Given the description of an element on the screen output the (x, y) to click on. 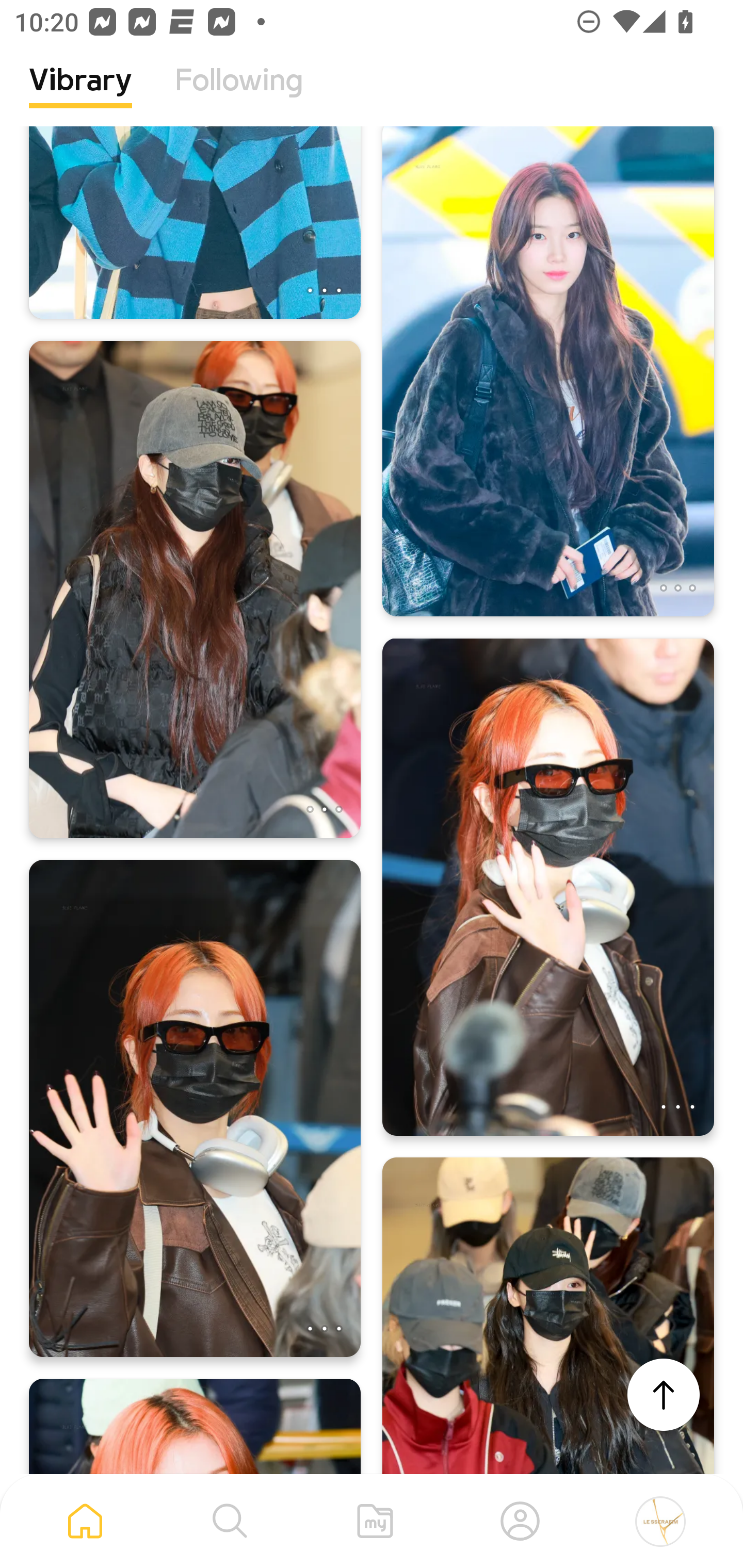
Vibrary (80, 95)
Following (239, 95)
